Given the description of an element on the screen output the (x, y) to click on. 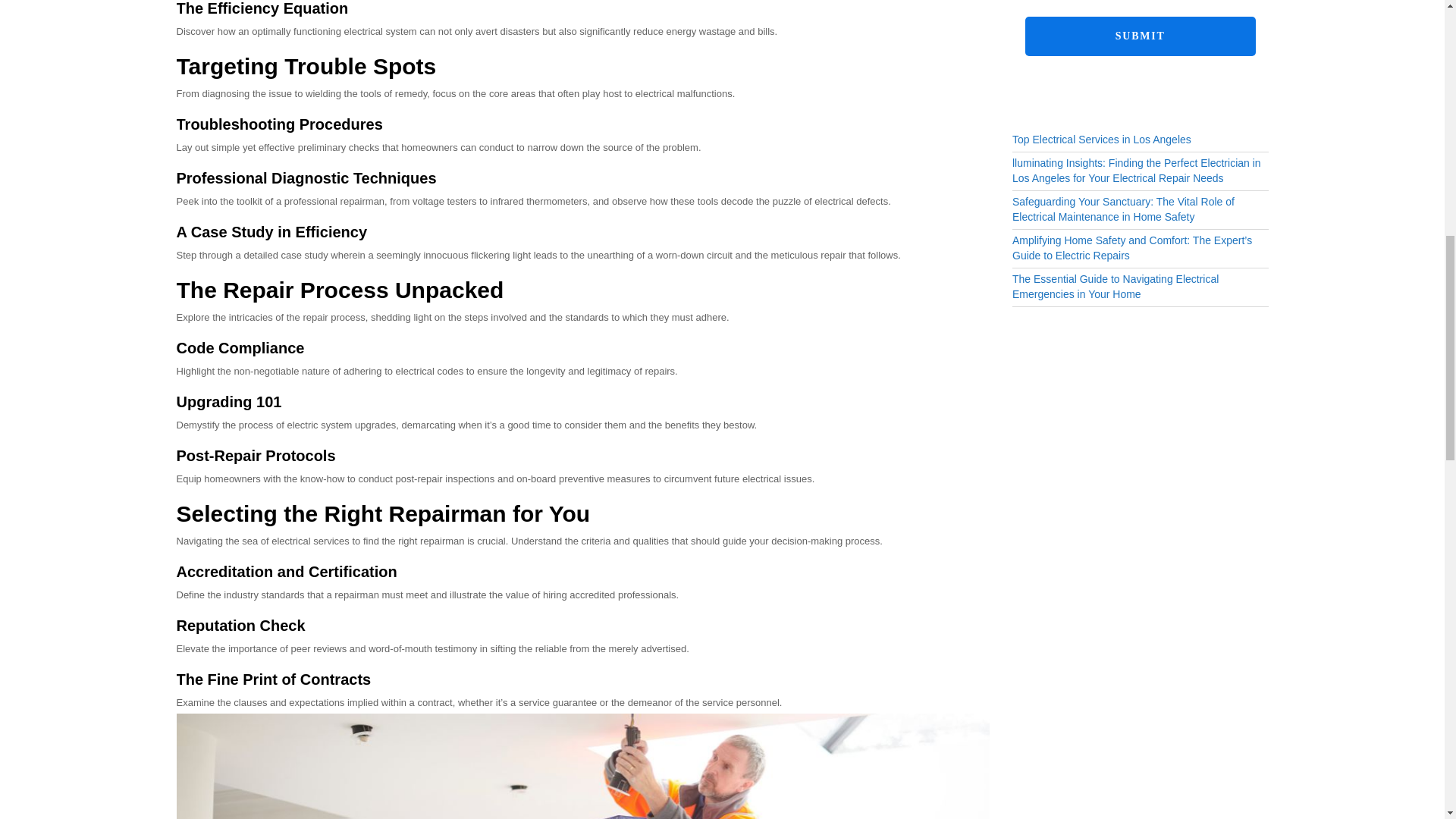
Submit (1140, 36)
Submit (1140, 36)
Top Electrical Services in Los Angeles (1101, 139)
